Given the description of an element on the screen output the (x, y) to click on. 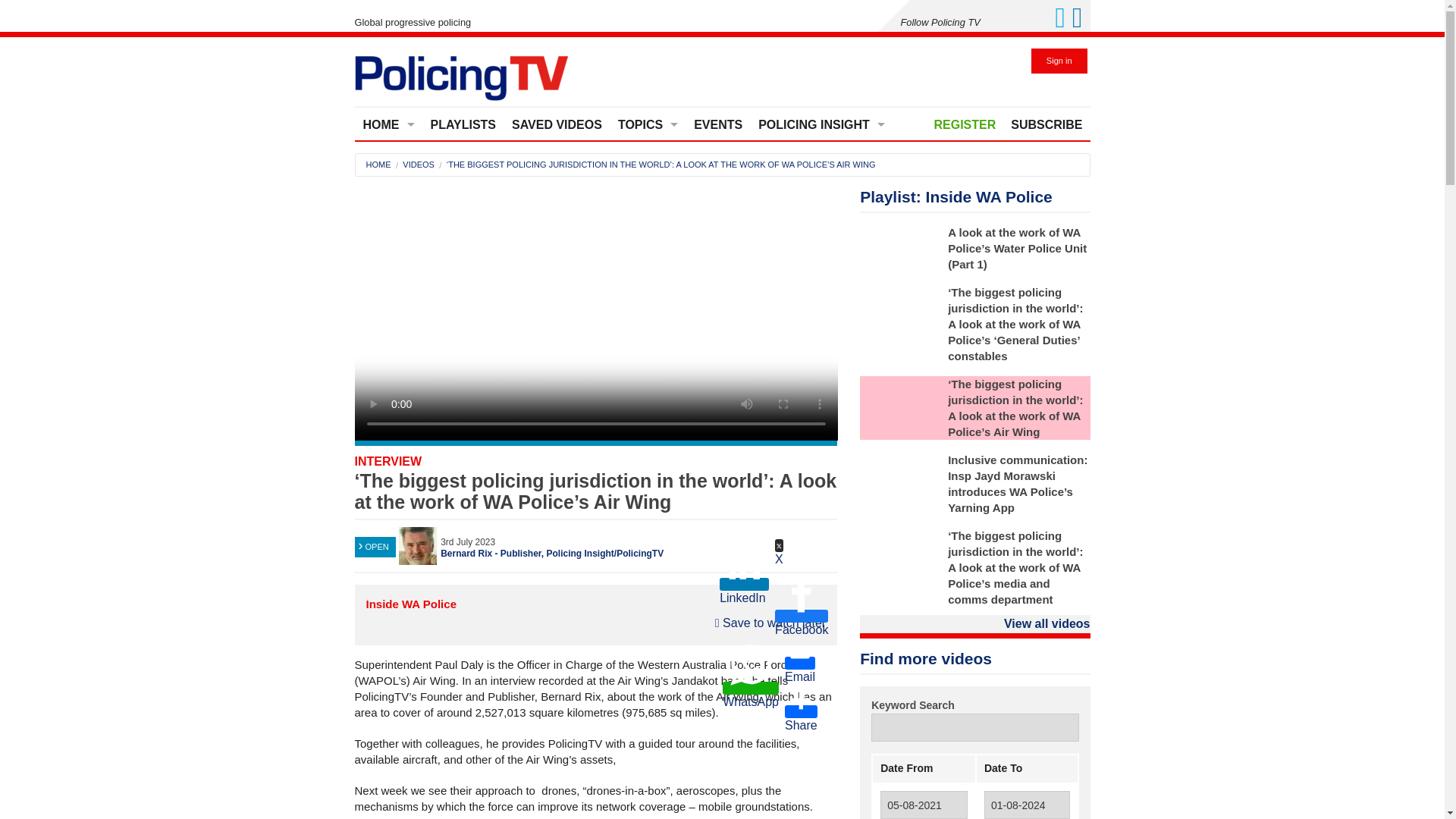
About (388, 194)
Reports (821, 262)
Finance (647, 194)
PLAYLISTS (463, 124)
REGISTER (964, 124)
Media Monitor (821, 160)
TOPICS (647, 124)
Features (821, 194)
HOME (377, 164)
Governance (647, 228)
Policy And Practice (647, 330)
People Development (647, 296)
SAVED VIDEOS (556, 124)
POLICING INSIGHT (821, 124)
01-08-2024 (1027, 805)
